Given the description of an element on the screen output the (x, y) to click on. 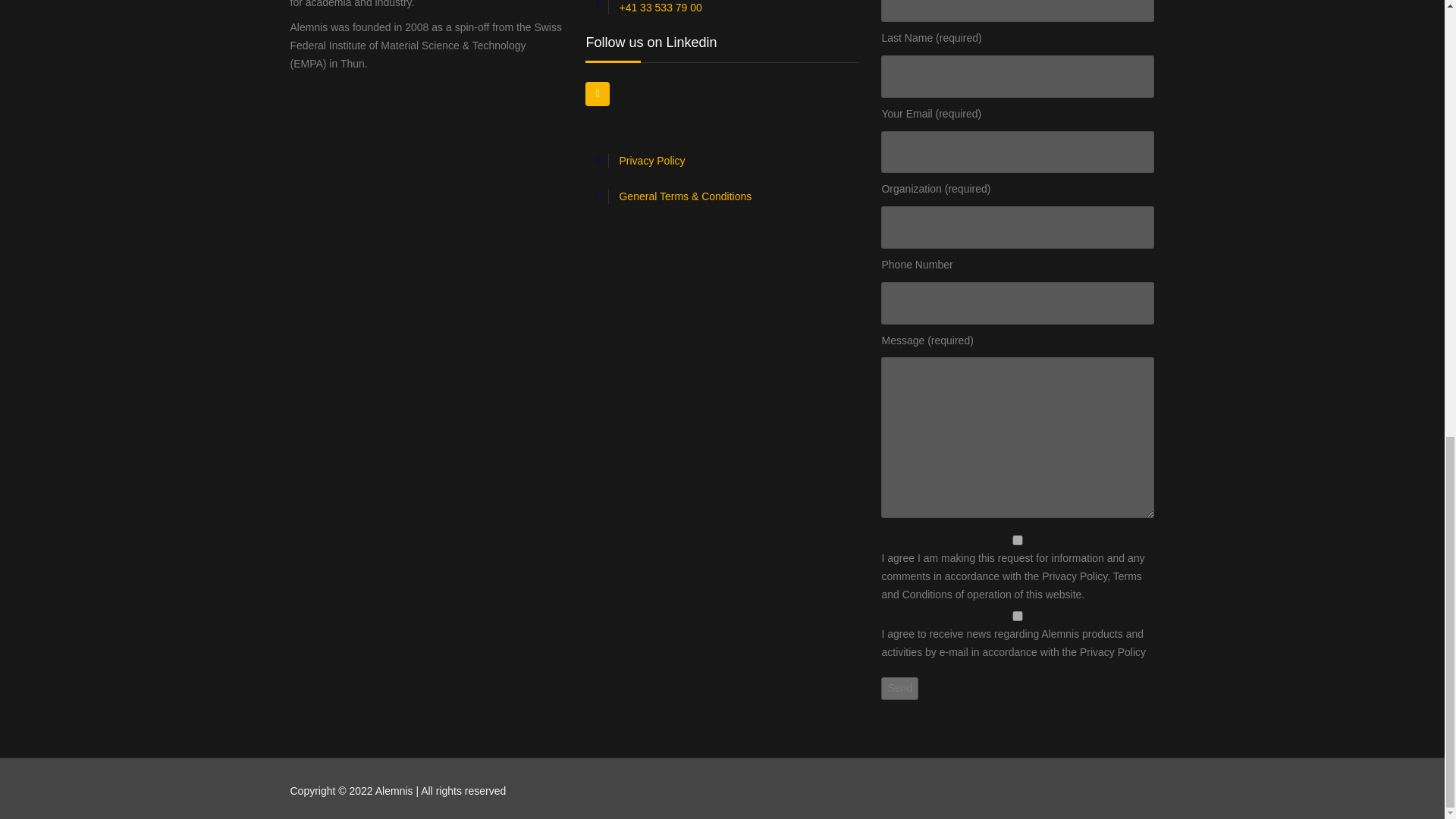
1 (1017, 615)
Send (899, 688)
1 (1017, 540)
